Given the description of an element on the screen output the (x, y) to click on. 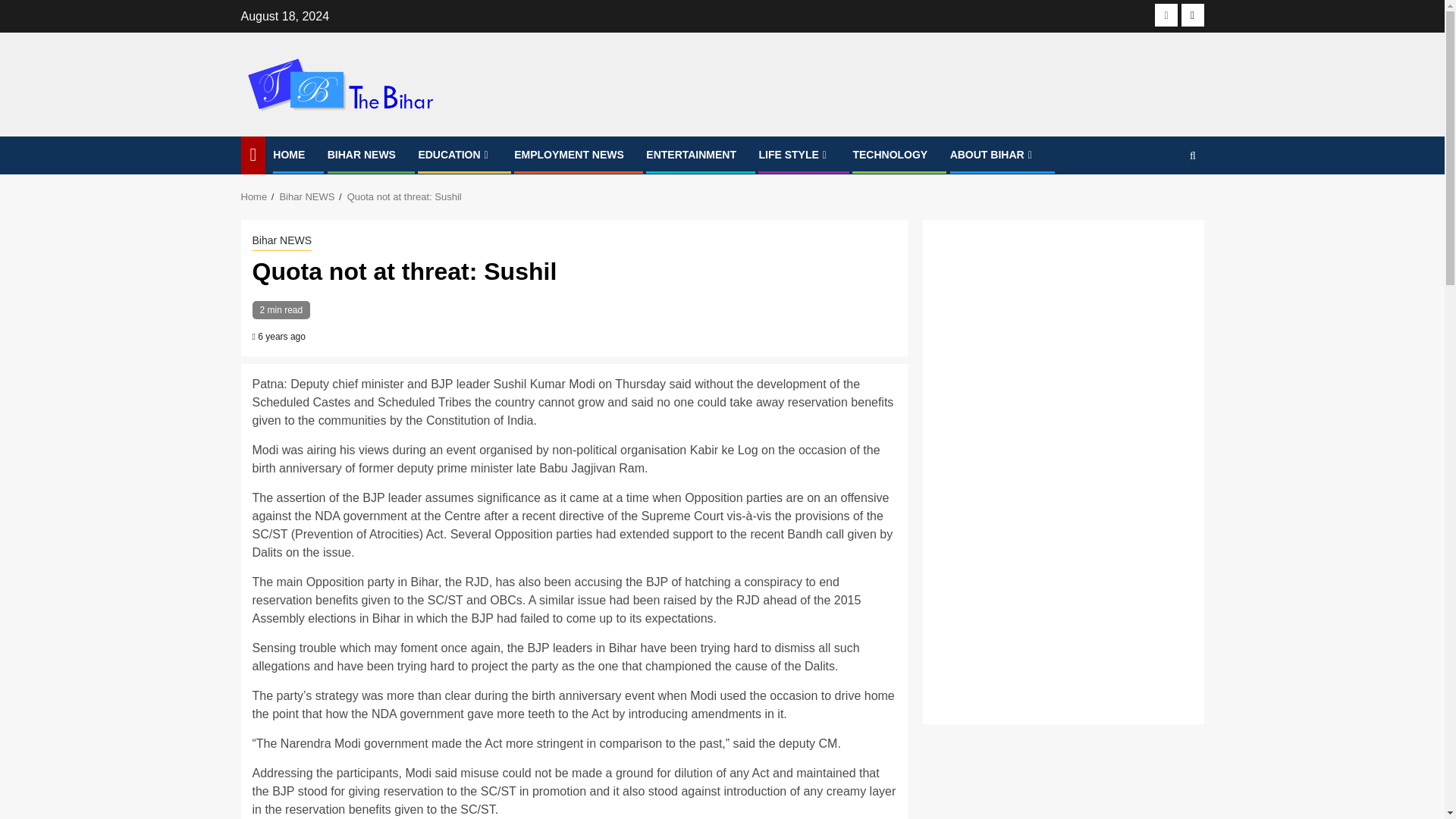
EDUCATION (454, 154)
Bihar NEWS (281, 240)
Facebook (1165, 15)
Home (254, 196)
BIHAR NEWS (361, 154)
ABOUT BIHAR (992, 154)
TECHNOLOGY (889, 154)
Twitter (1192, 15)
Advertisement (1062, 592)
LIFE STYLE (793, 154)
